Given the description of an element on the screen output the (x, y) to click on. 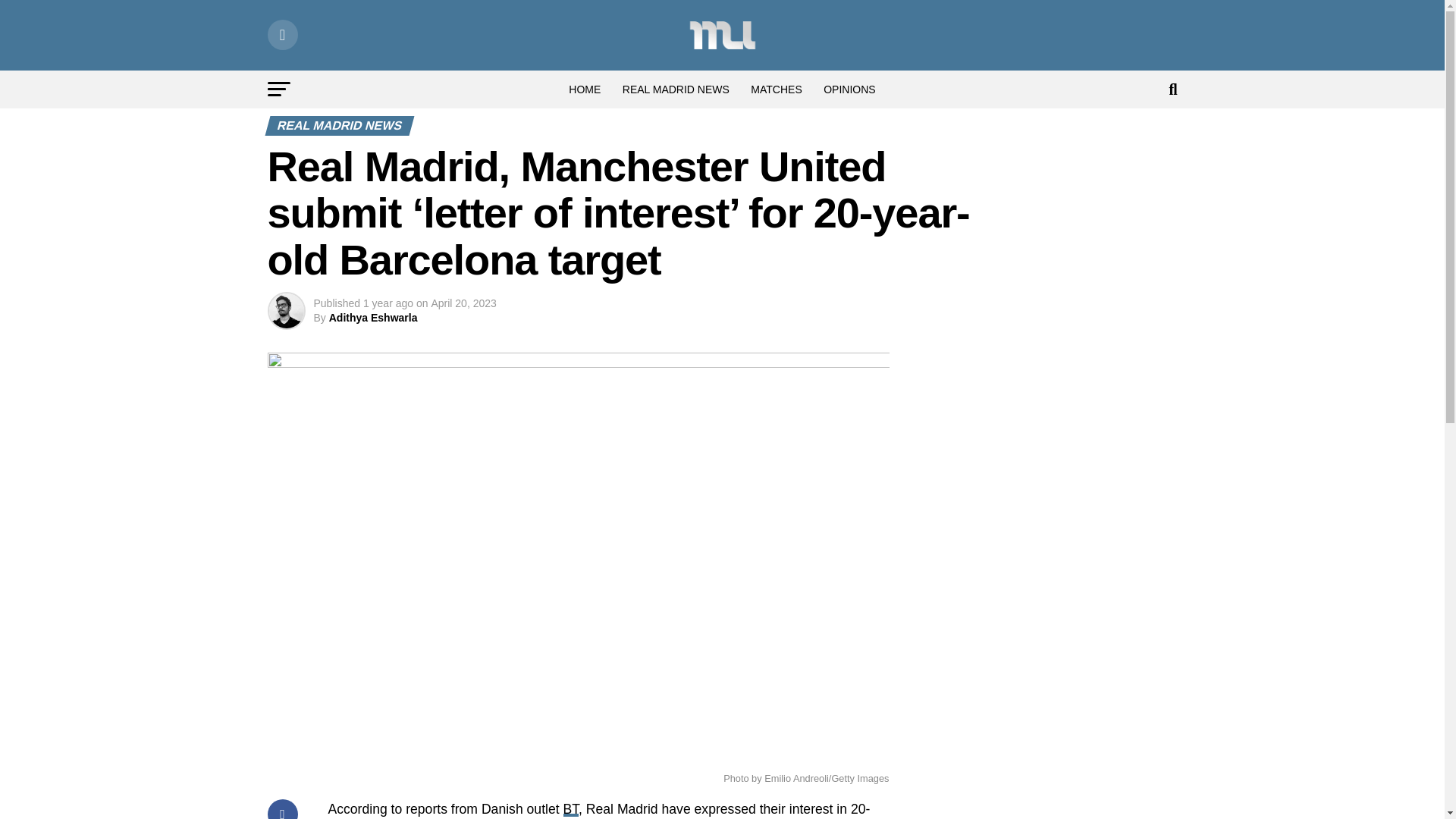
Adithya Eshwarla (373, 317)
MATCHES (775, 89)
HOME (584, 89)
OPINIONS (848, 89)
REAL MADRID NEWS (675, 89)
Posts by Adithya Eshwarla (373, 317)
